Given the description of an element on the screen output the (x, y) to click on. 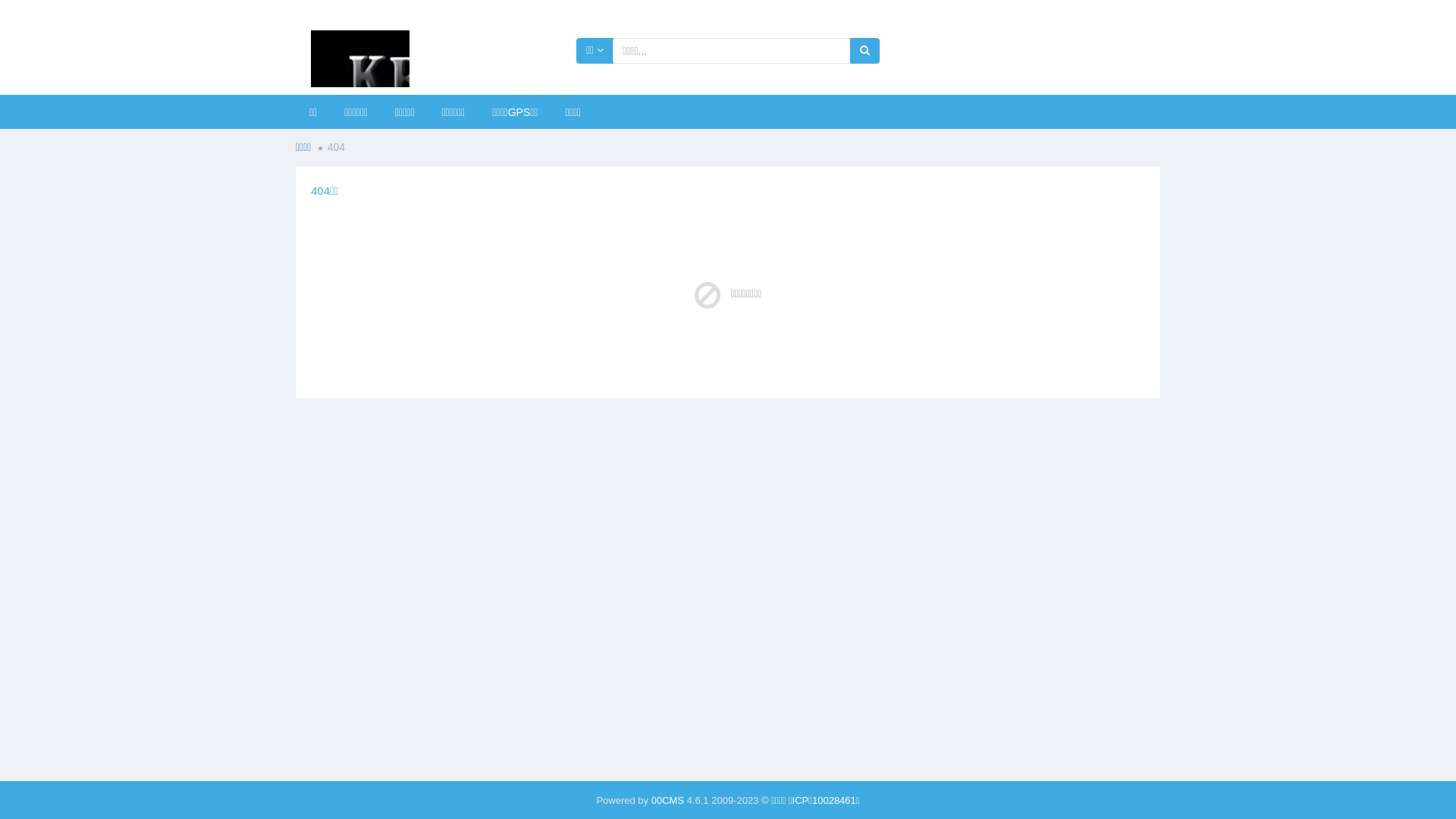
00CMS Element type: text (667, 800)
